Given the description of an element on the screen output the (x, y) to click on. 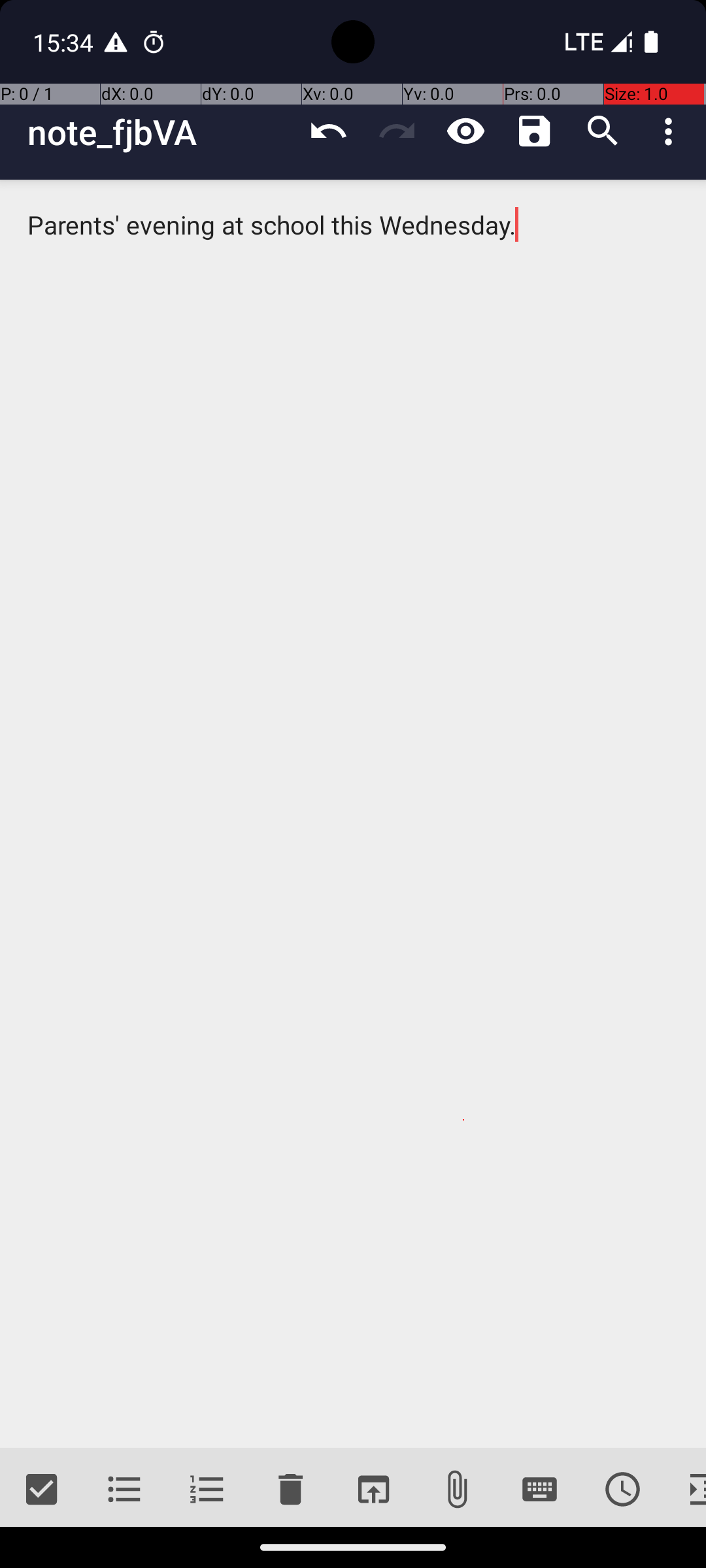
note_fjbVA Element type: android.widget.TextView (160, 131)
Parents' evening at school this Wednesday. Element type: android.widget.EditText (353, 813)
